Given the description of an element on the screen output the (x, y) to click on. 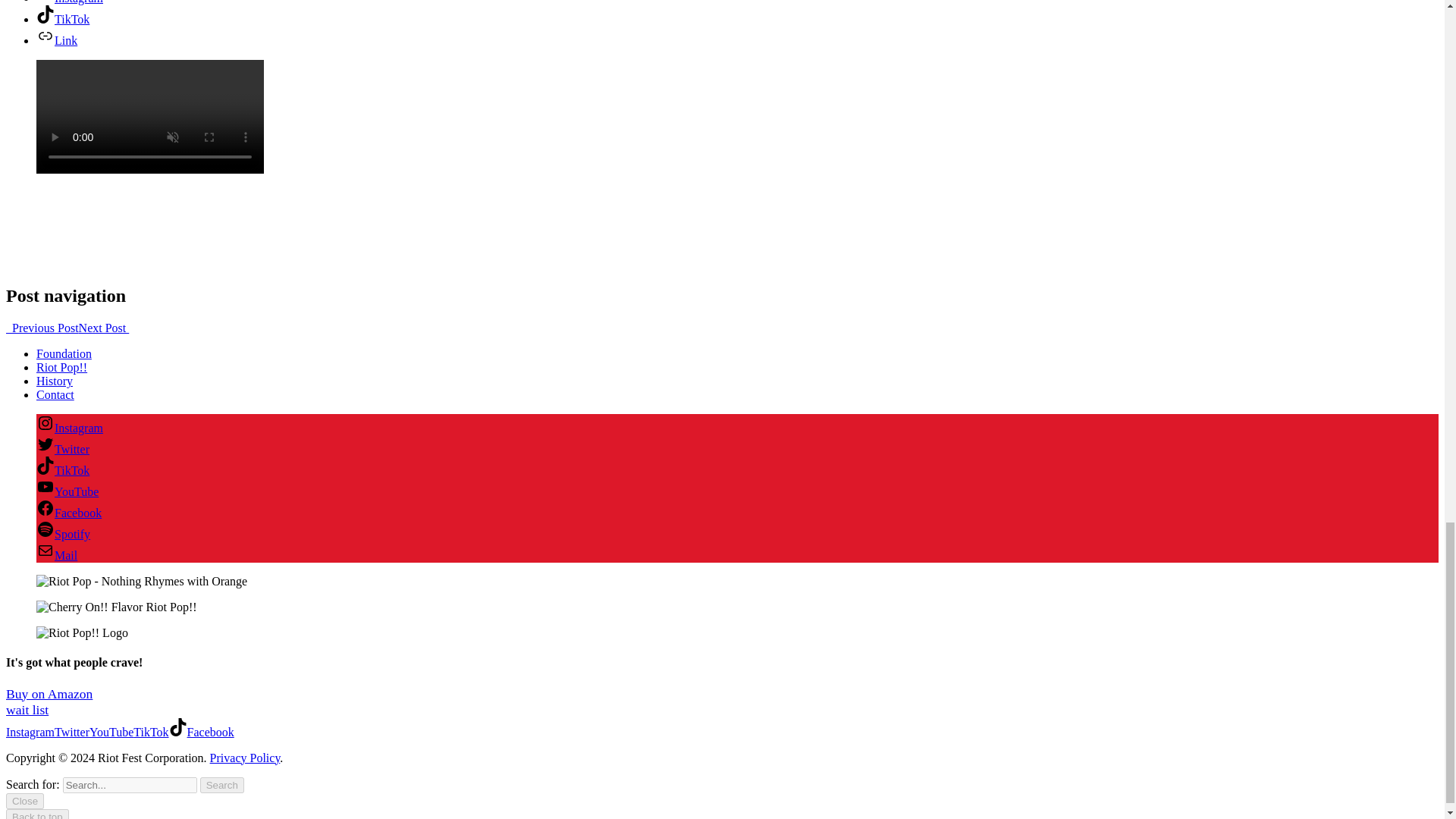
Instagram (69, 2)
Foundation (63, 353)
  Previous Post (41, 327)
Riot Pop!! (61, 367)
Instagram (69, 427)
Next Post  (103, 327)
Contact (55, 394)
History (54, 380)
Twitter (62, 449)
Link (56, 40)
TikTok (62, 19)
